Given the description of an element on the screen output the (x, y) to click on. 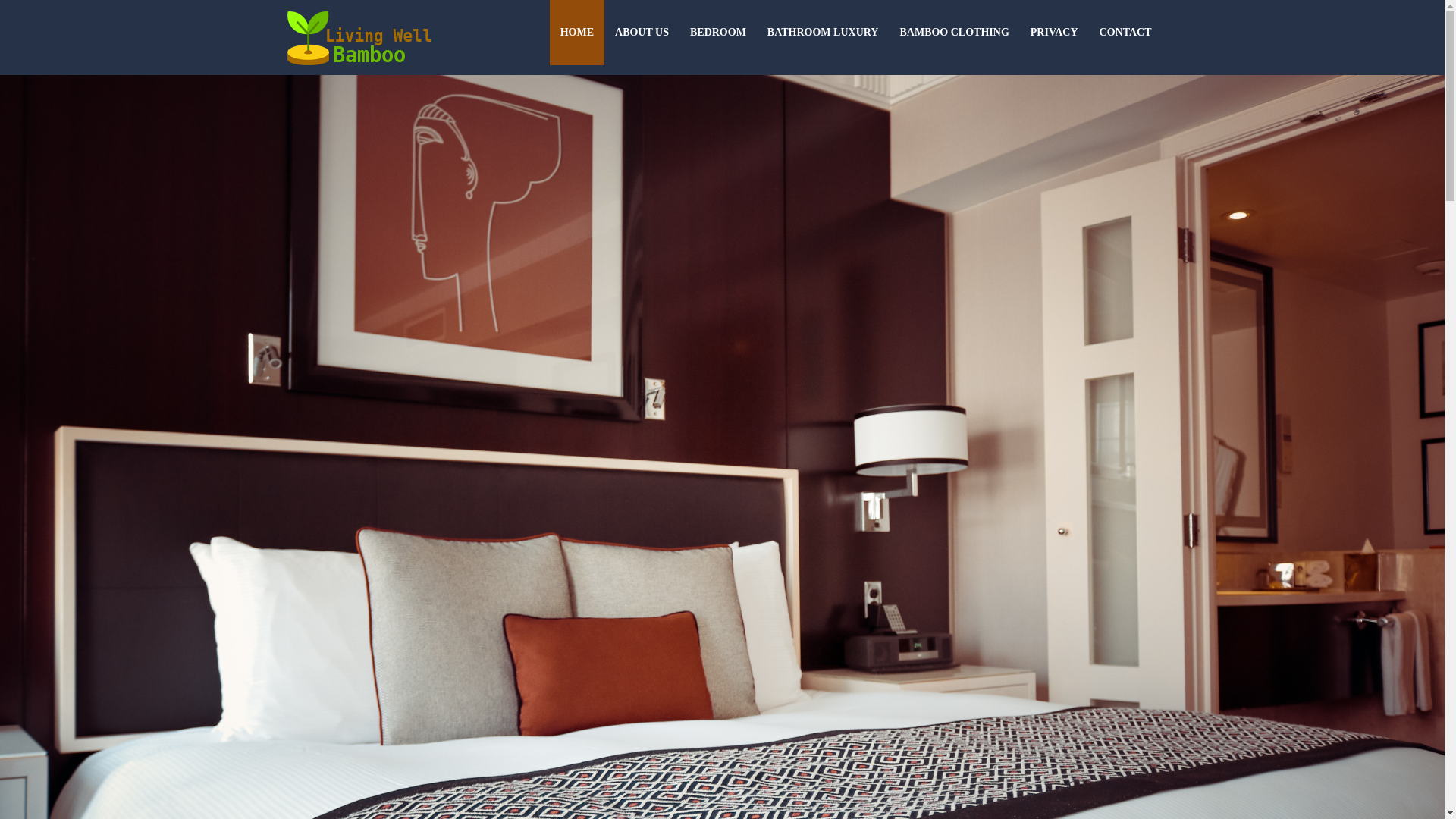
HOME (577, 32)
CONTACT (1125, 32)
PRIVACY (1054, 32)
ABOUT US (641, 32)
BEDROOM (718, 32)
BATHROOM LUXURY (823, 32)
BAMBOO CLOTHING (953, 32)
Living Well Bamboo (381, 87)
